Given the description of an element on the screen output the (x, y) to click on. 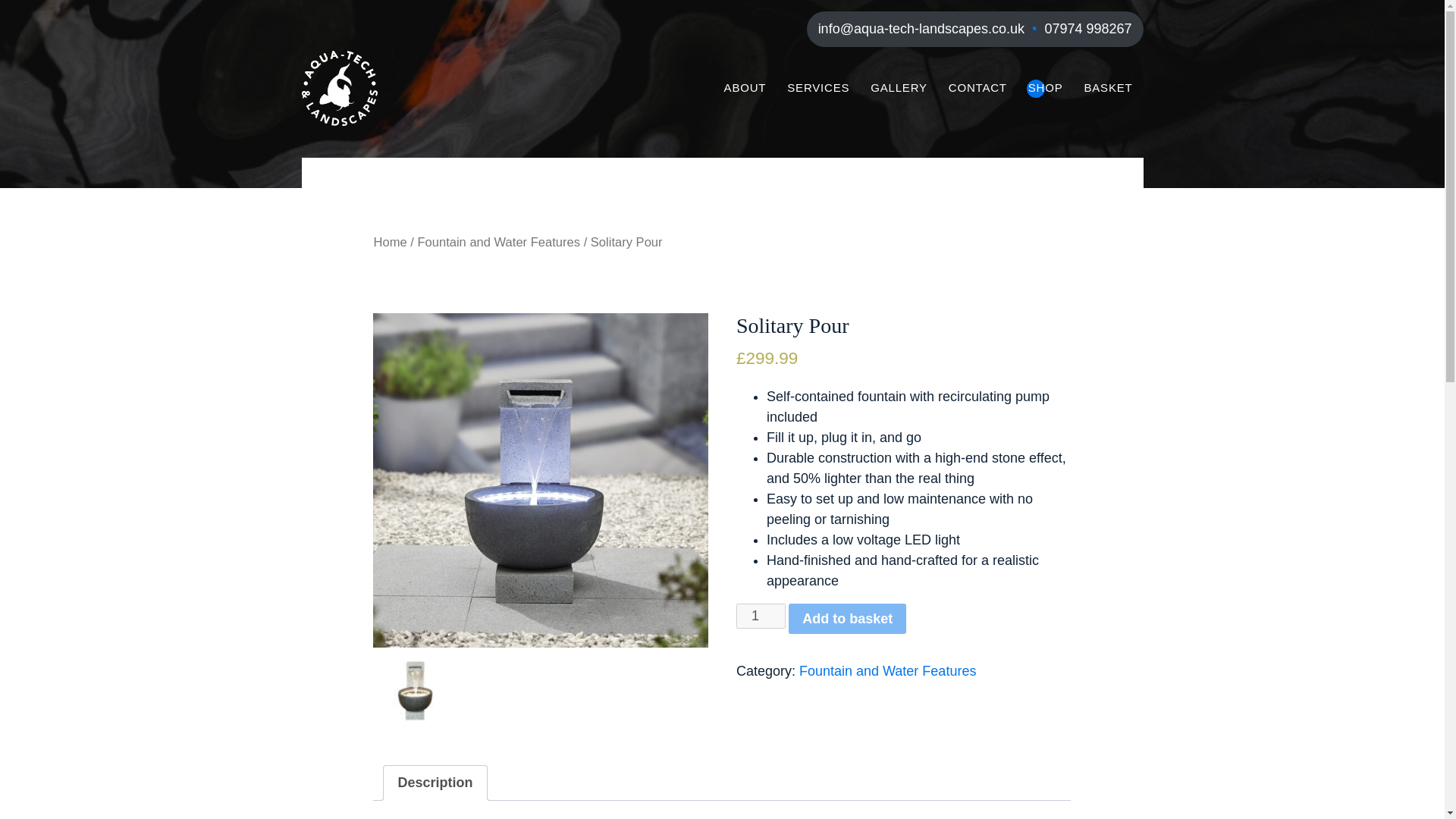
ABOUT (745, 88)
1 (761, 615)
CONTACT (977, 88)
Description (434, 782)
07974 998267 (1087, 28)
Home (389, 242)
BASKET (1108, 88)
SERVICES (818, 88)
Fountain and Water Features (497, 242)
GALLERY (898, 88)
Add to basket (847, 618)
SHOP (1045, 88)
Fountain and Water Features (887, 670)
